Given the description of an element on the screen output the (x, y) to click on. 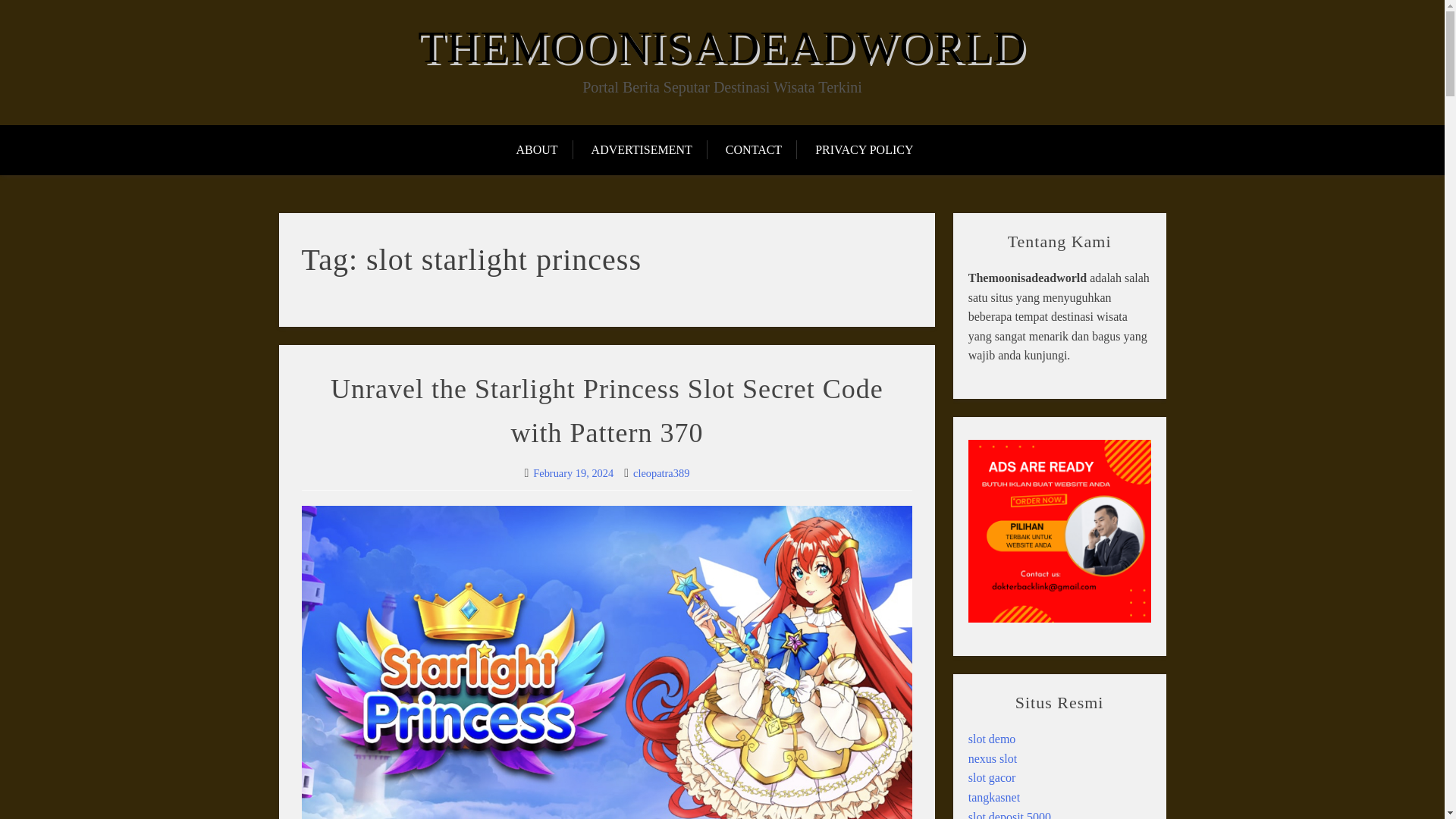
CONTACT (753, 150)
February 19, 2024 (572, 472)
cleopatra389 (660, 472)
slot gacor (992, 777)
THEMOONISADEADWORLD (721, 47)
slot demo (992, 738)
ADVERTISEMENT (641, 150)
slot deposit 5000 (1009, 814)
ABOUT (543, 150)
